Given the description of an element on the screen output the (x, y) to click on. 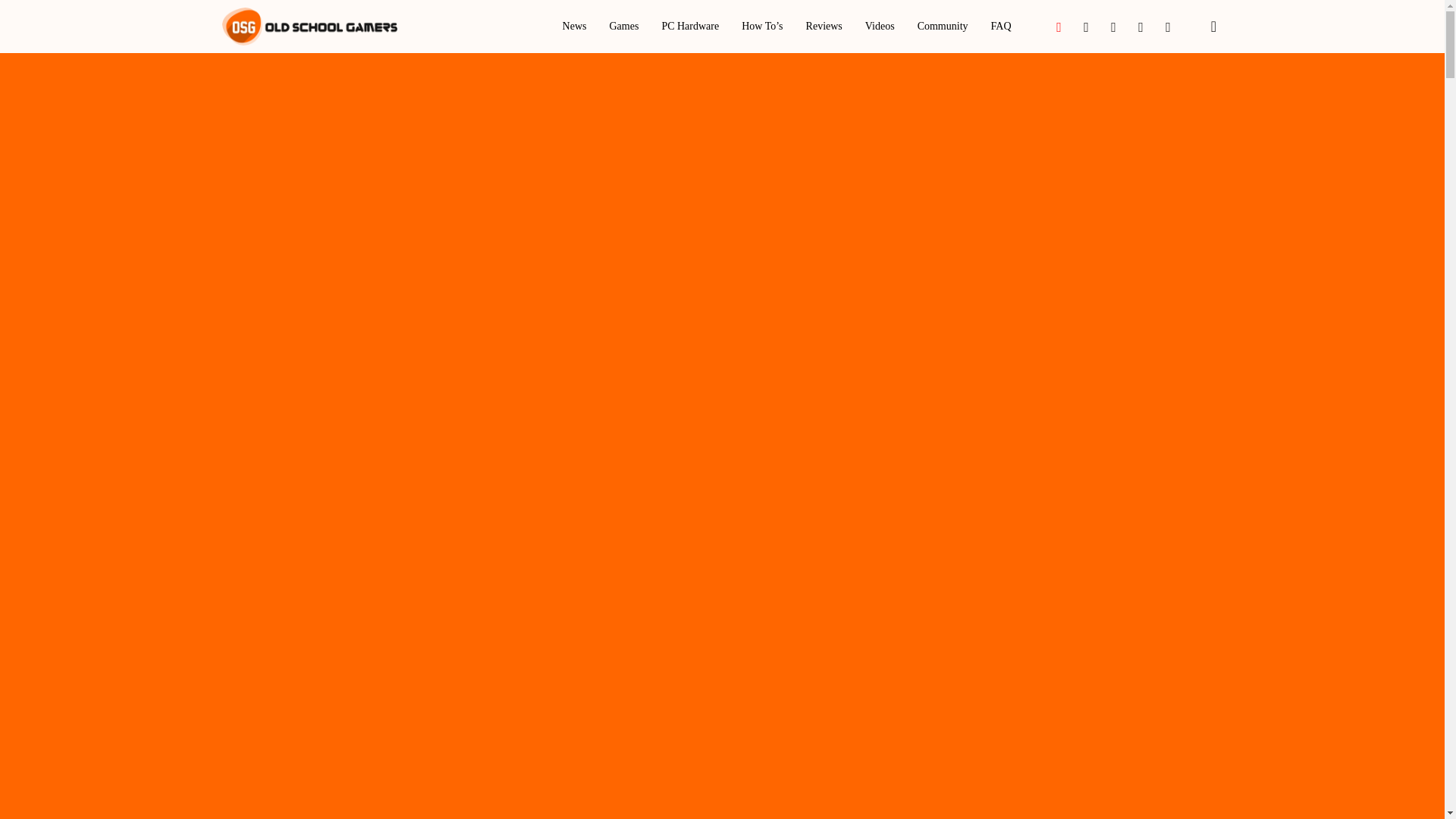
PC Hardware (690, 26)
News (574, 26)
Games (623, 26)
